Given the description of an element on the screen output the (x, y) to click on. 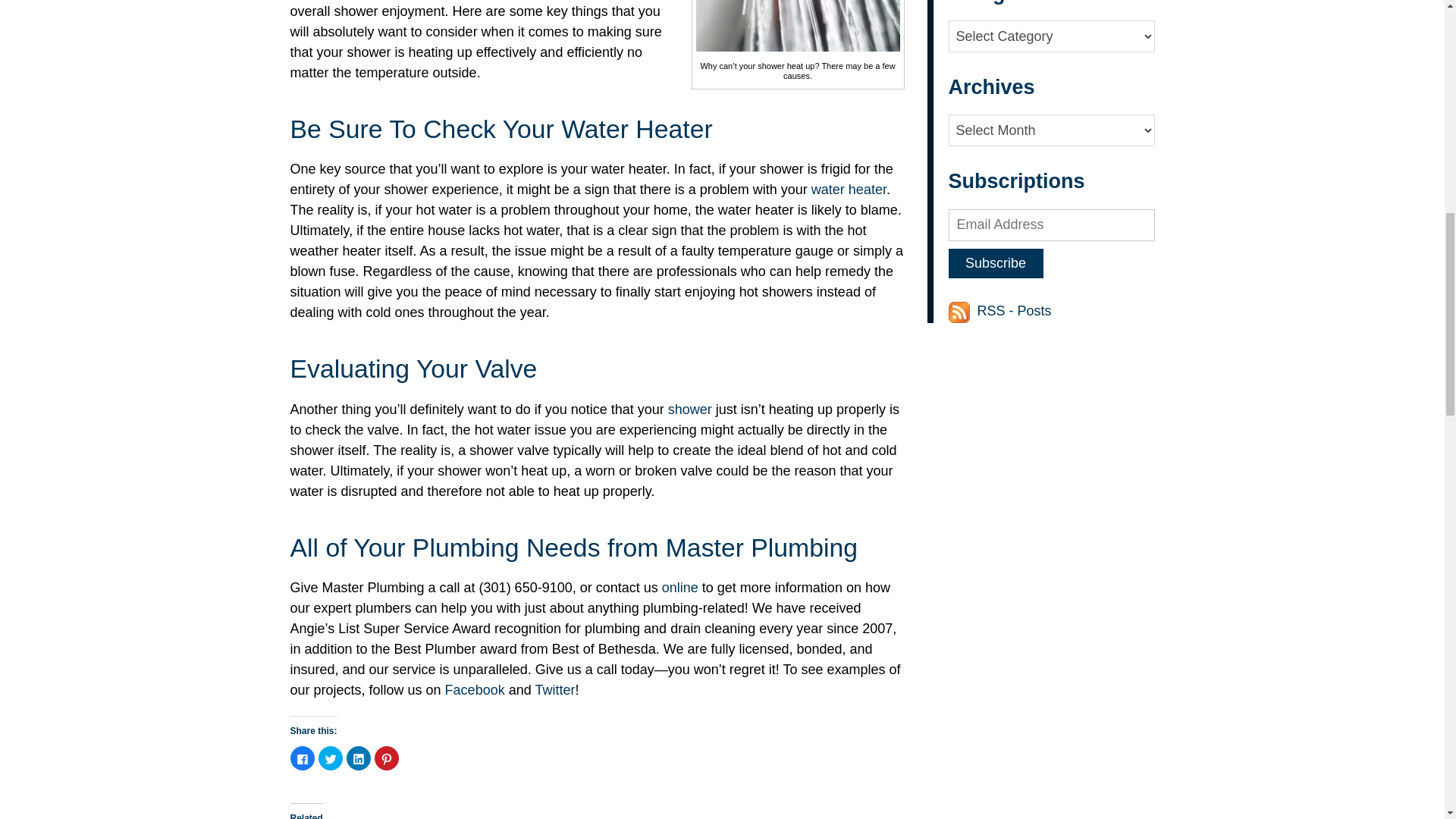
Subscribe to Posts (1013, 310)
Click to share on LinkedIn (357, 758)
master plumbing shower heat up (797, 25)
Click to share on Pinterest (386, 758)
Click to share on Twitter (330, 758)
Click to share on Facebook (301, 758)
Subscribe to Posts (959, 310)
